Given the description of an element on the screen output the (x, y) to click on. 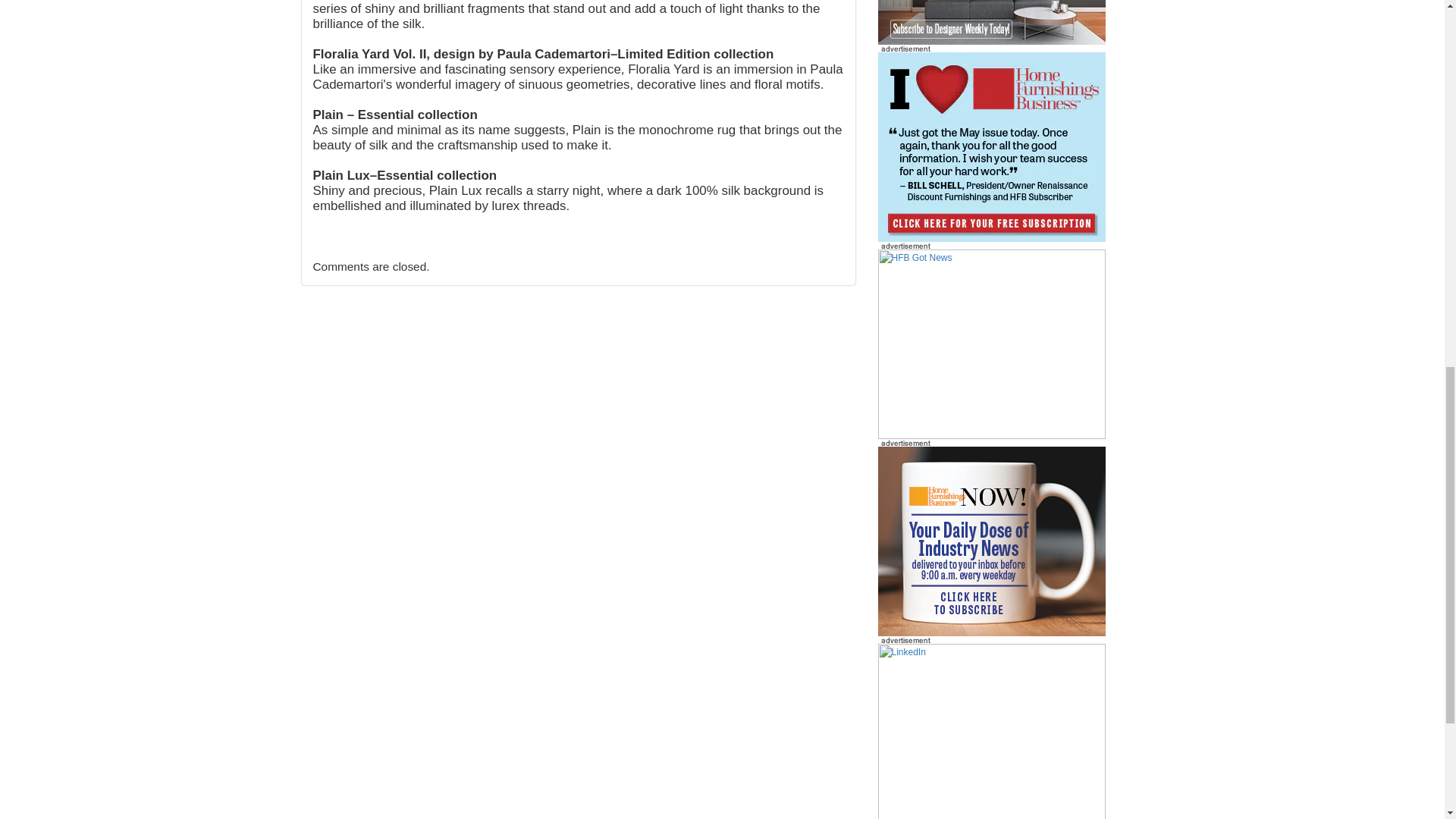
HFB Subscribe IHeart Schell (991, 146)
HFB I Love Schell (991, 145)
HFB Got News (991, 343)
HFB Subscribe IHeart (991, 343)
HFB Designer Weekly (991, 22)
